Given the description of an element on the screen output the (x, y) to click on. 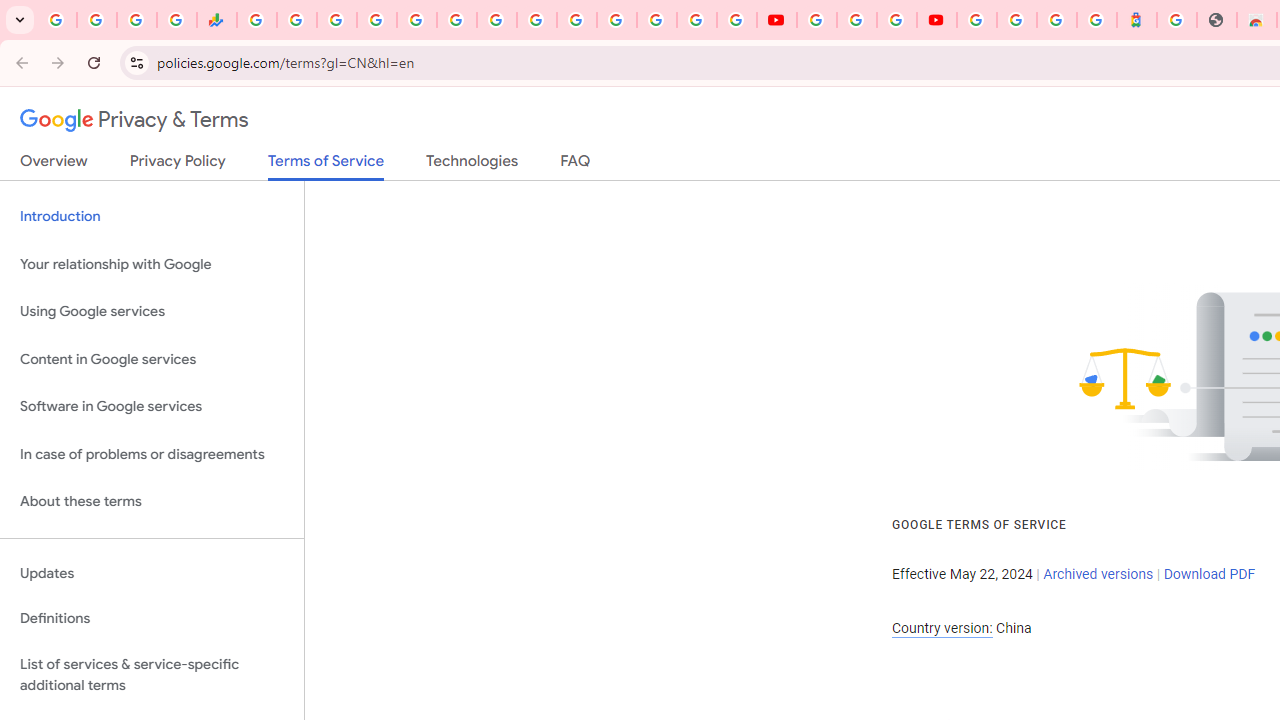
Using Google services (152, 312)
Sign in - Google Accounts (977, 20)
Content Creator Programs & Opportunities - YouTube Creators (936, 20)
Your relationship with Google (152, 263)
Sign in - Google Accounts (376, 20)
